Given the description of an element on the screen output the (x, y) to click on. 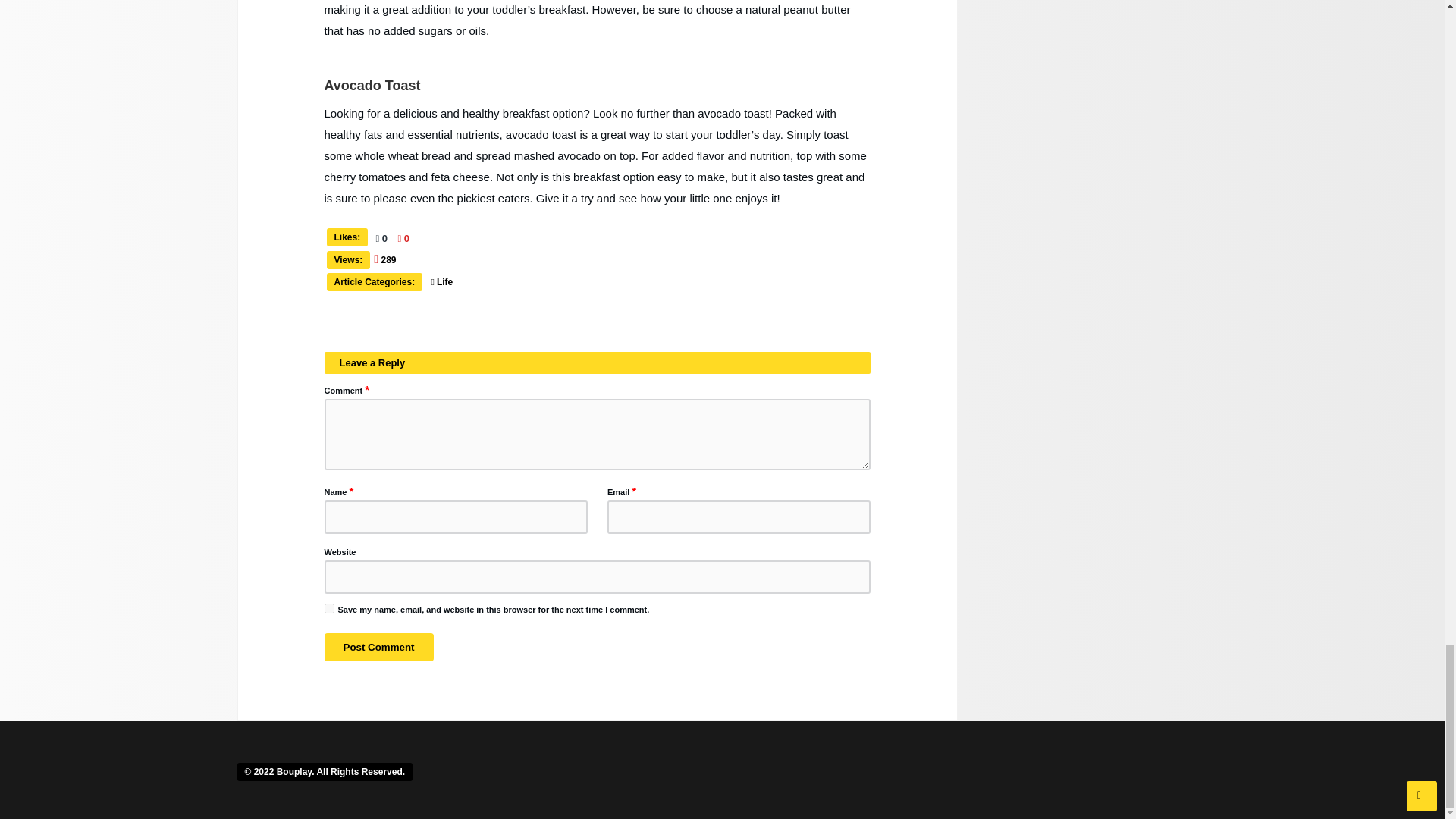
yes (329, 608)
Post Comment (378, 646)
Post Comment (378, 646)
Life (446, 281)
